Given the description of an element on the screen output the (x, y) to click on. 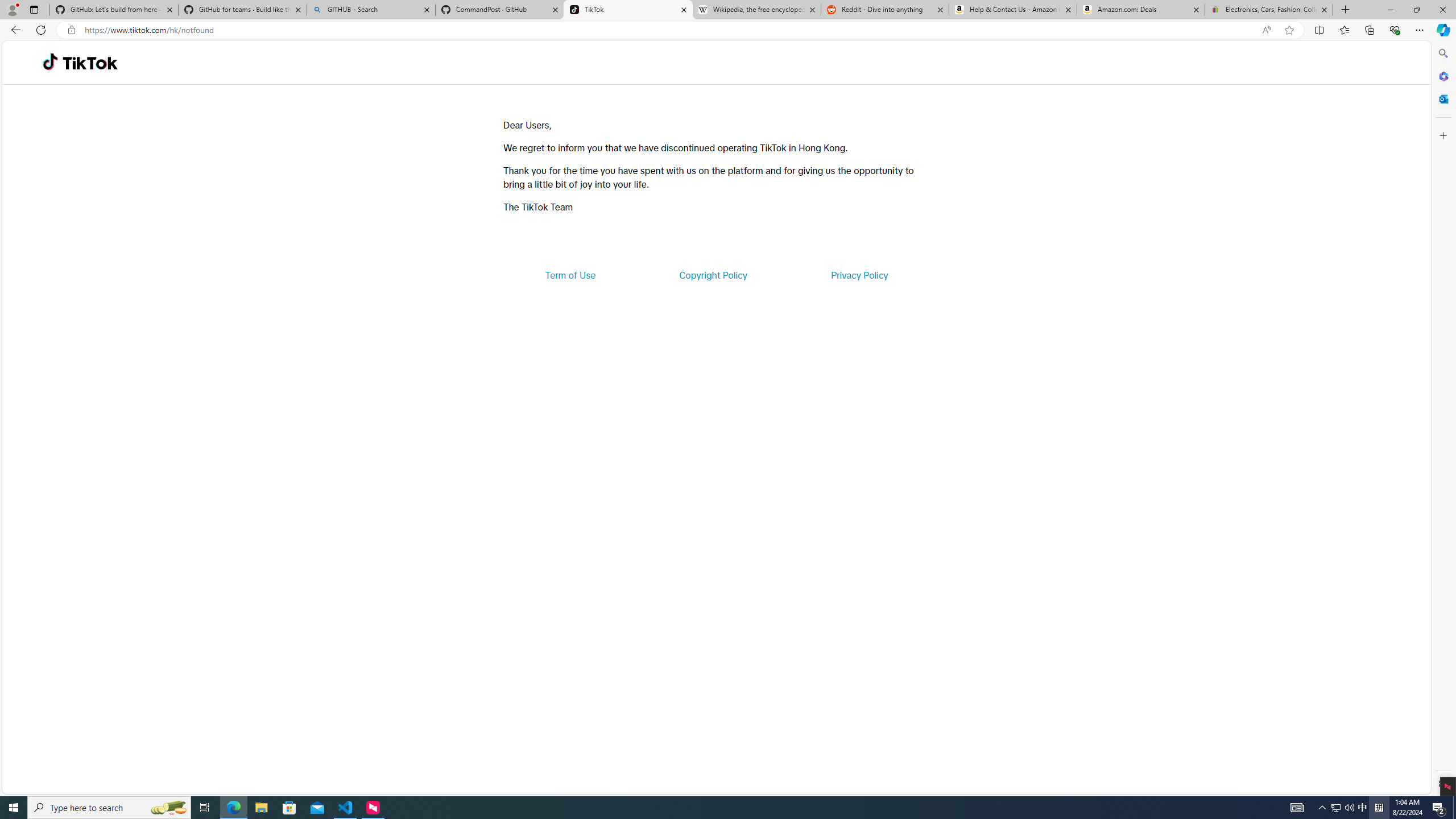
GITHUB - Search (370, 9)
Amazon.com: Deals (1140, 9)
TikTok (628, 9)
